Given the description of an element on the screen output the (x, y) to click on. 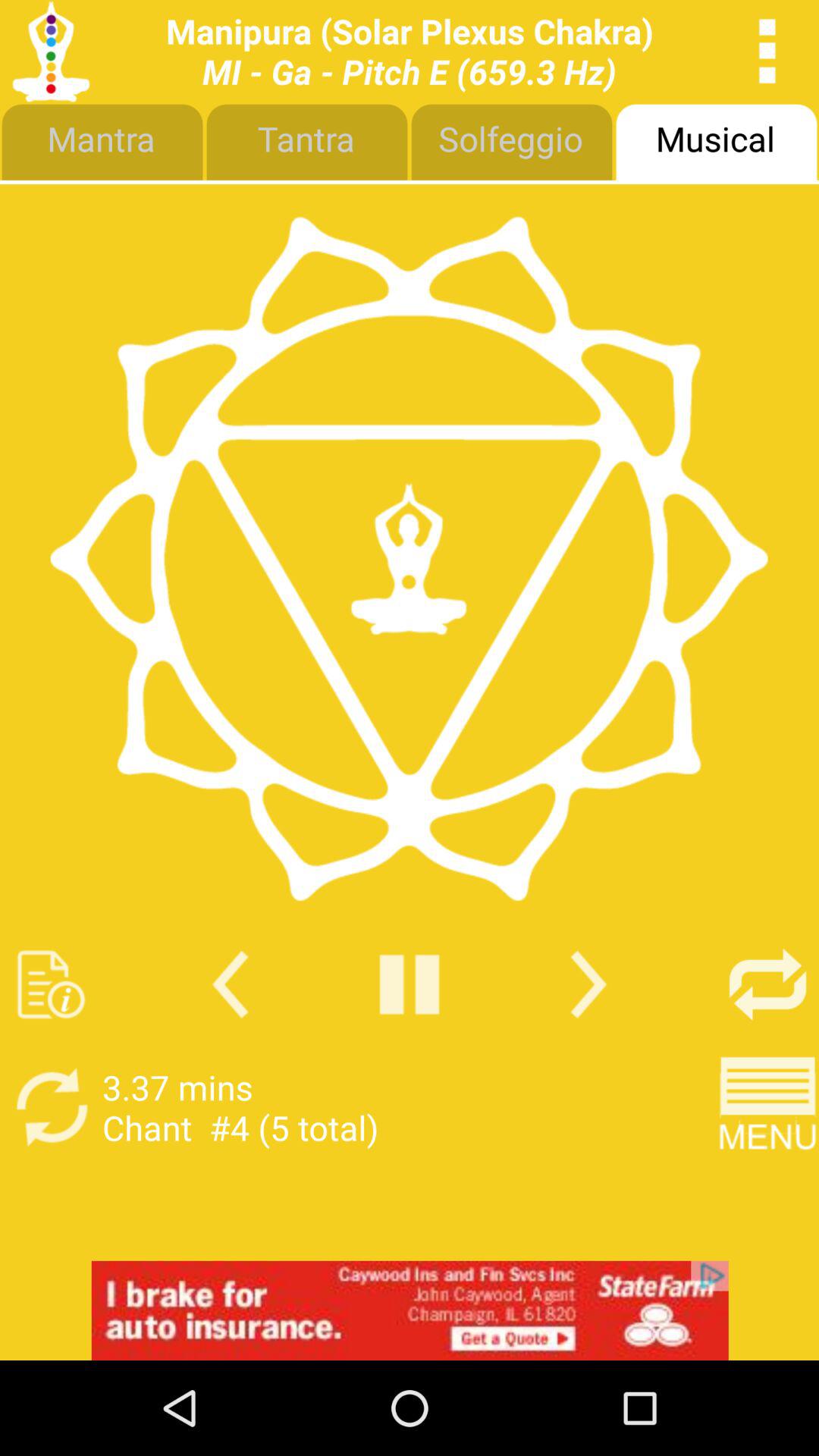
repeat song (51, 1107)
